Given the description of an element on the screen output the (x, y) to click on. 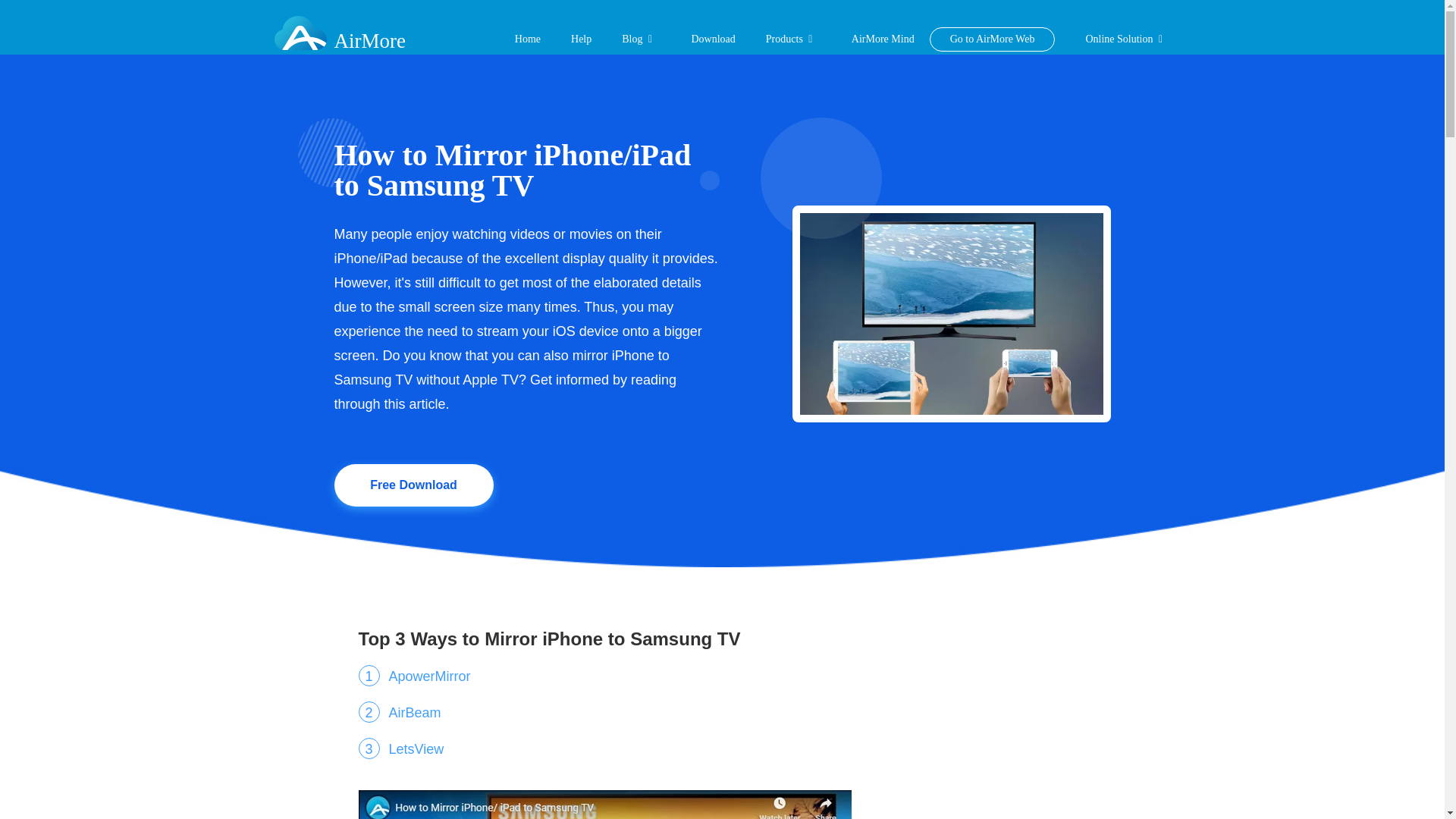
AirMore Mind (882, 39)
Free Download (413, 485)
Blog (631, 39)
Download (713, 39)
Products (784, 39)
Help (580, 39)
AirMore (338, 27)
Go to AirMore Web (992, 39)
Apowersoft (338, 27)
LetsView (401, 749)
ApowerMirror (414, 676)
Online Solution (1118, 39)
AirBeam (399, 712)
Home (527, 39)
